Given the description of an element on the screen output the (x, y) to click on. 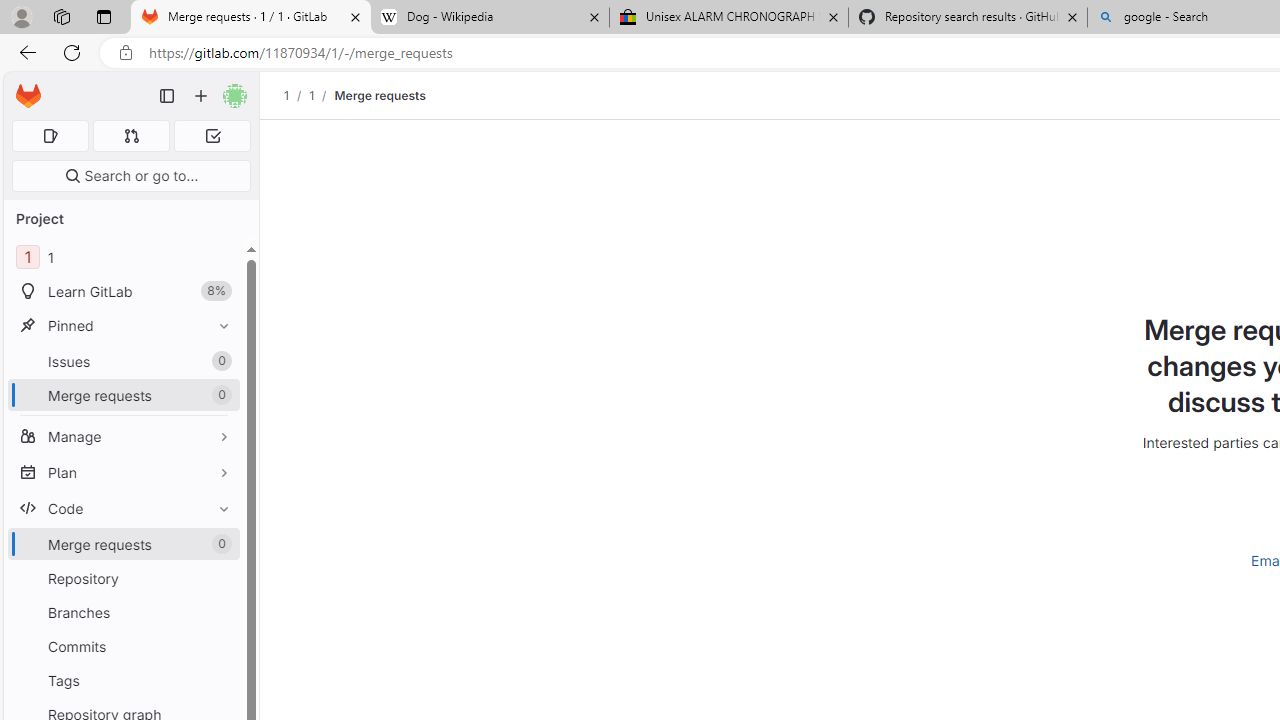
Merge requests (380, 95)
Pin Commits (219, 646)
Primary navigation sidebar (167, 96)
Issues0 (123, 361)
Code (123, 507)
Tags (123, 679)
1/ (321, 95)
Assigned issues 0 (50, 136)
